Given the description of an element on the screen output the (x, y) to click on. 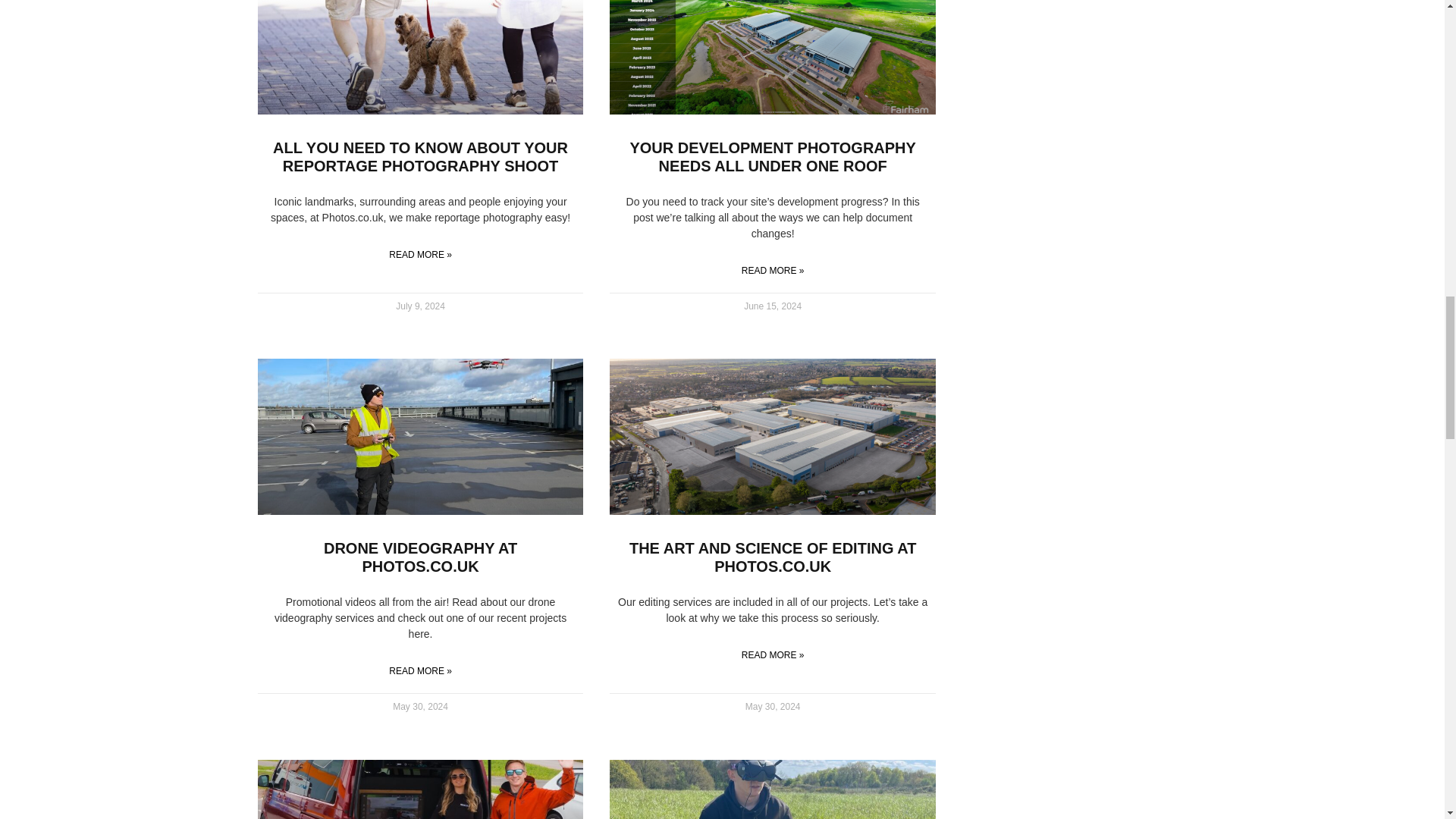
ALL YOU NEED TO KNOW ABOUT YOUR REPORTAGE PHOTOGRAPHY SHOOT (420, 156)
